Given the description of an element on the screen output the (x, y) to click on. 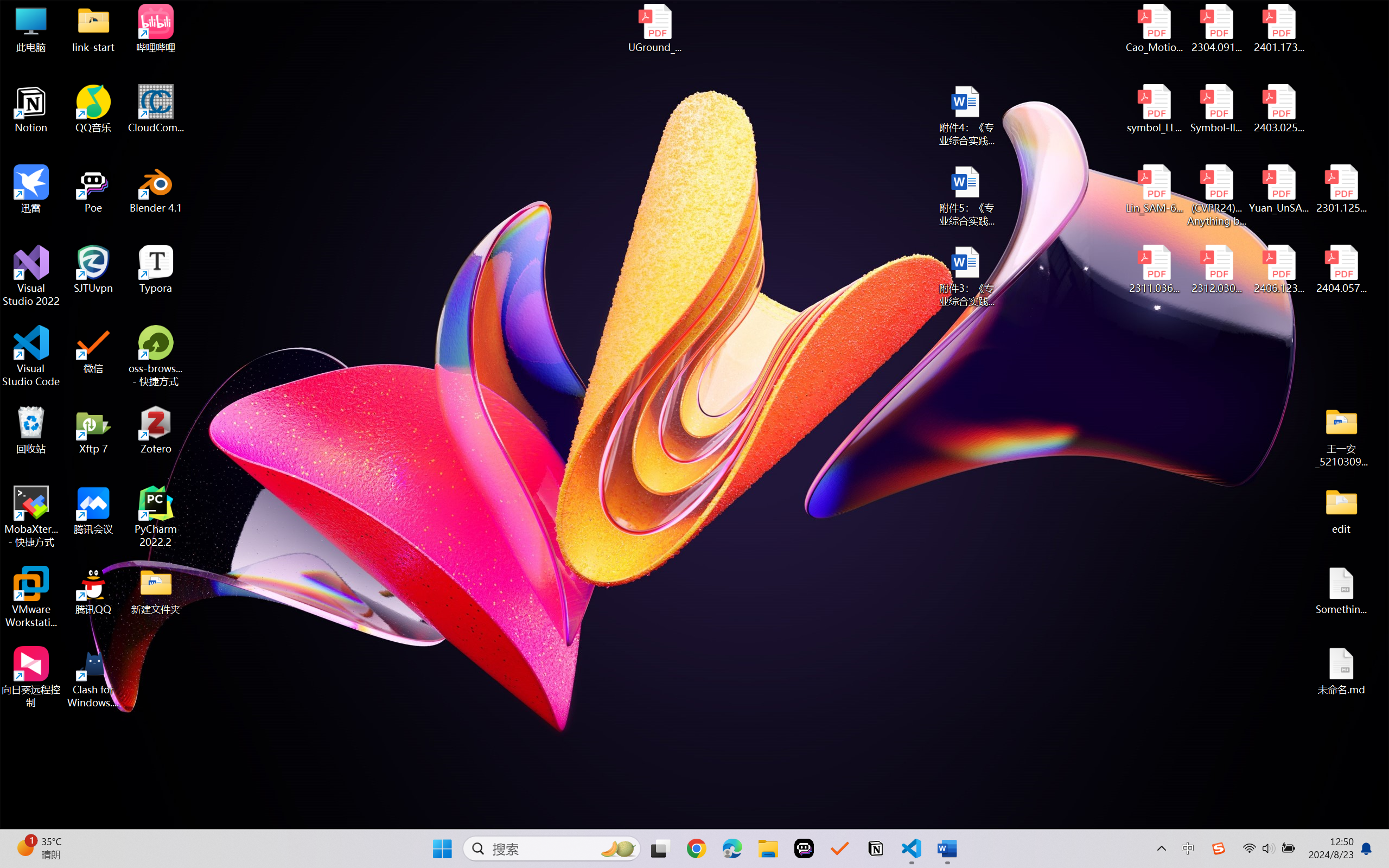
2312.03032v2.pdf (1216, 269)
2406.12373v2.pdf (1278, 269)
Something.md (1340, 591)
(CVPR24)Matching Anything by Segmenting Anything.pdf (1216, 195)
Microsoft Edge (731, 848)
Visual Studio 2022 (31, 276)
VMware Workstation Pro (31, 597)
